Given the description of an element on the screen output the (x, y) to click on. 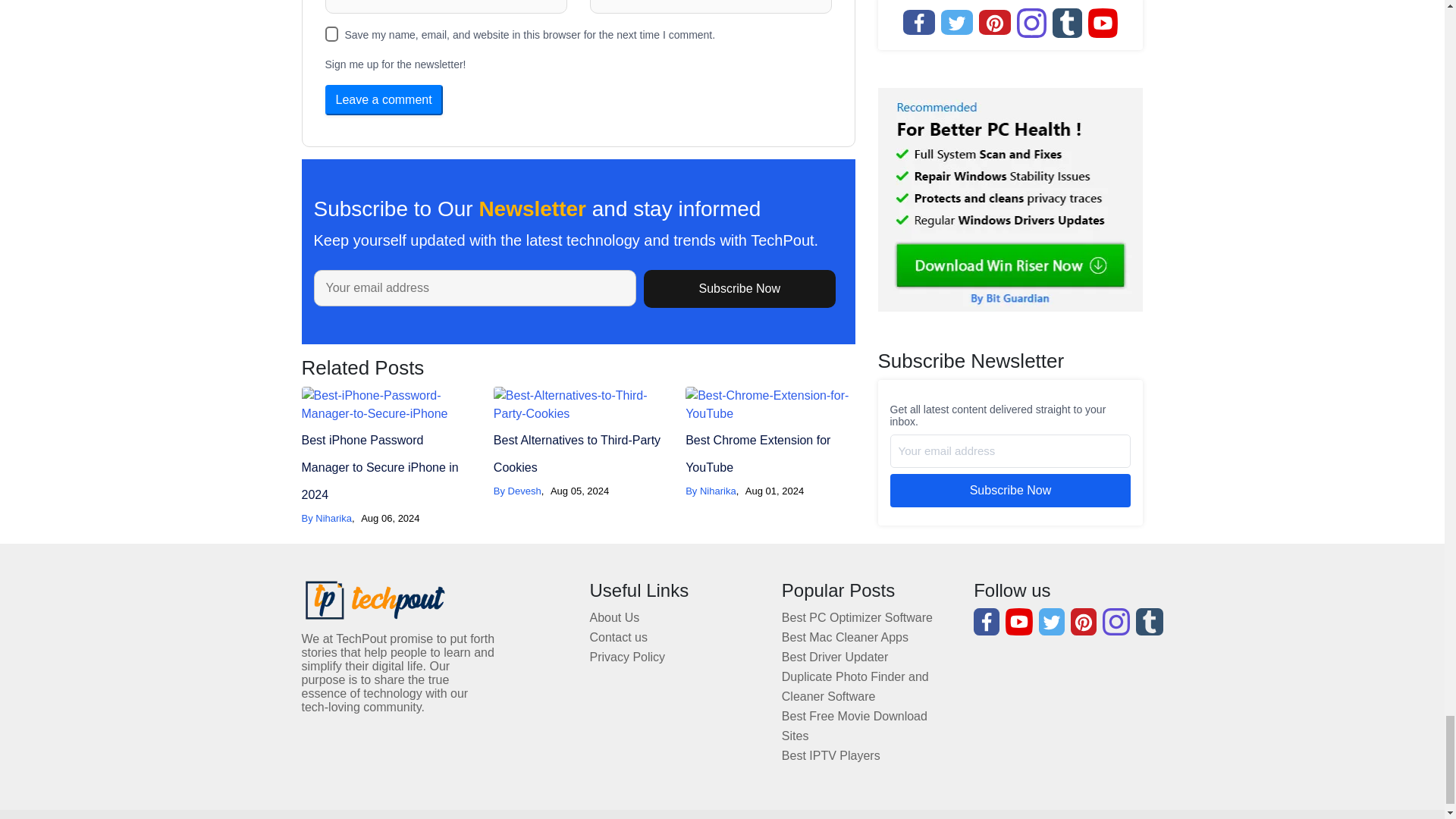
Leave a comment (383, 100)
Subscribe Now (739, 288)
